Given the description of an element on the screen output the (x, y) to click on. 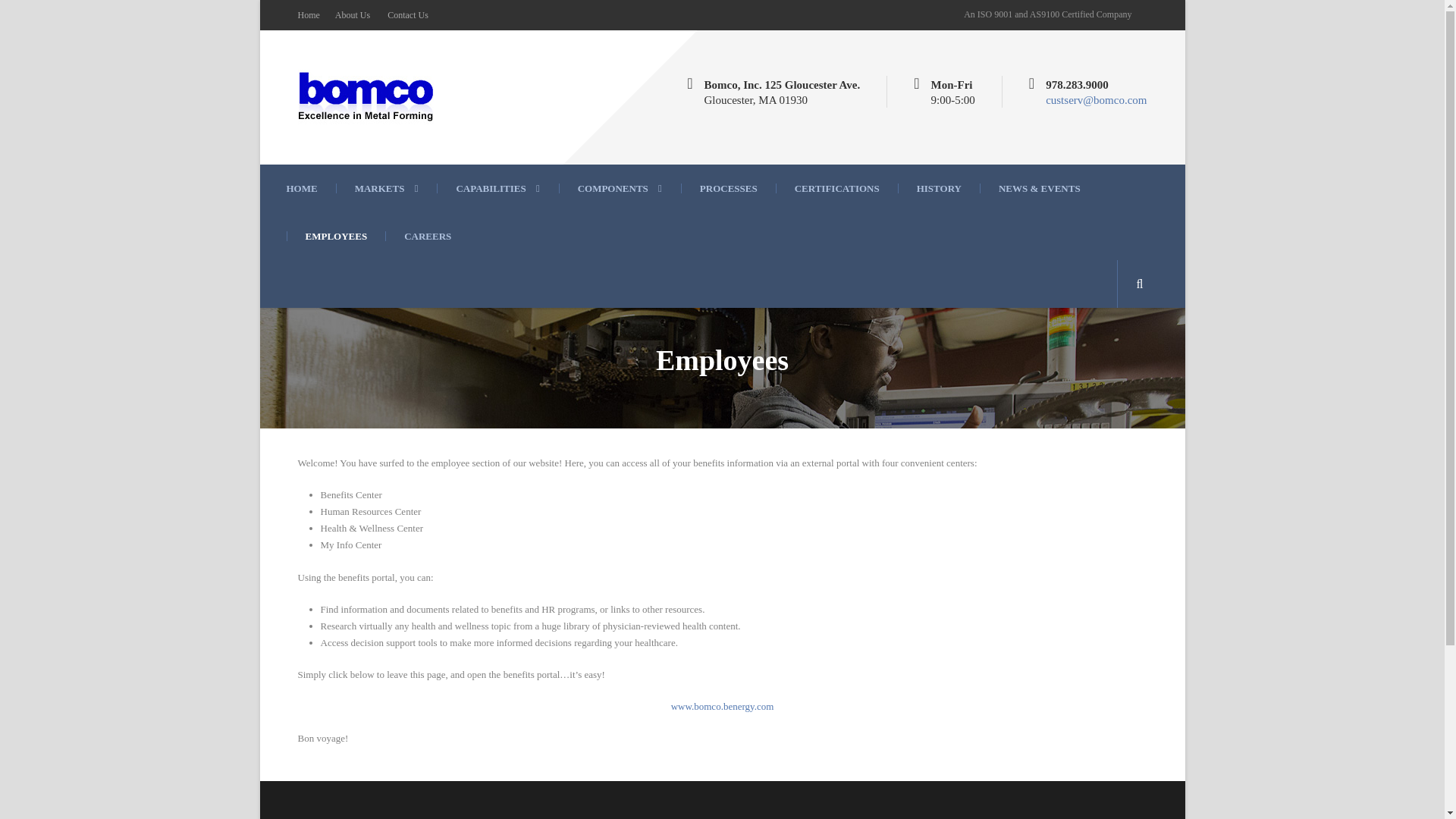
About Us (351, 15)
Contact Us (407, 15)
Home (307, 15)
